Given the description of an element on the screen output the (x, y) to click on. 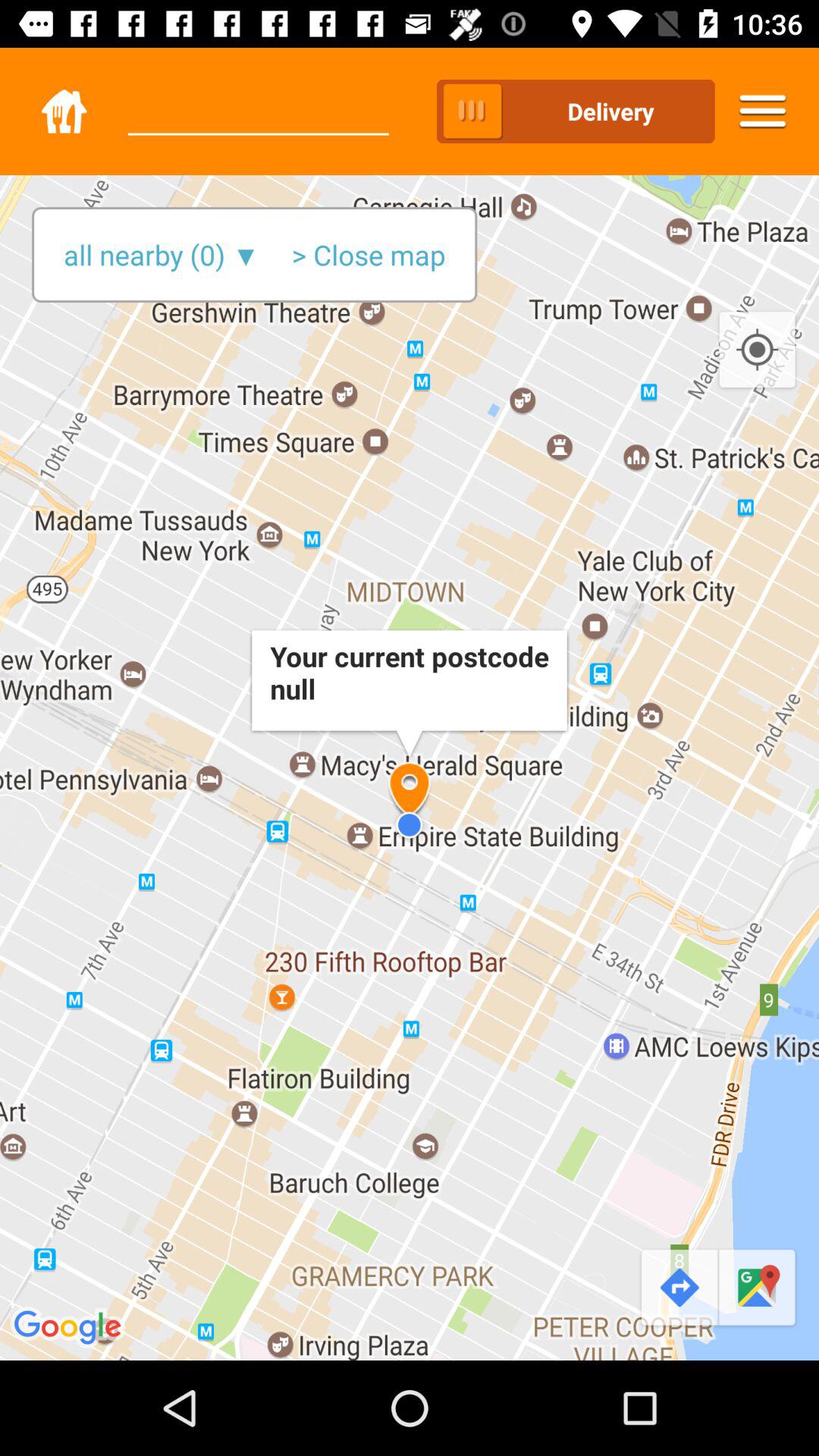
flip to the > close map item (368, 254)
